Given the description of an element on the screen output the (x, y) to click on. 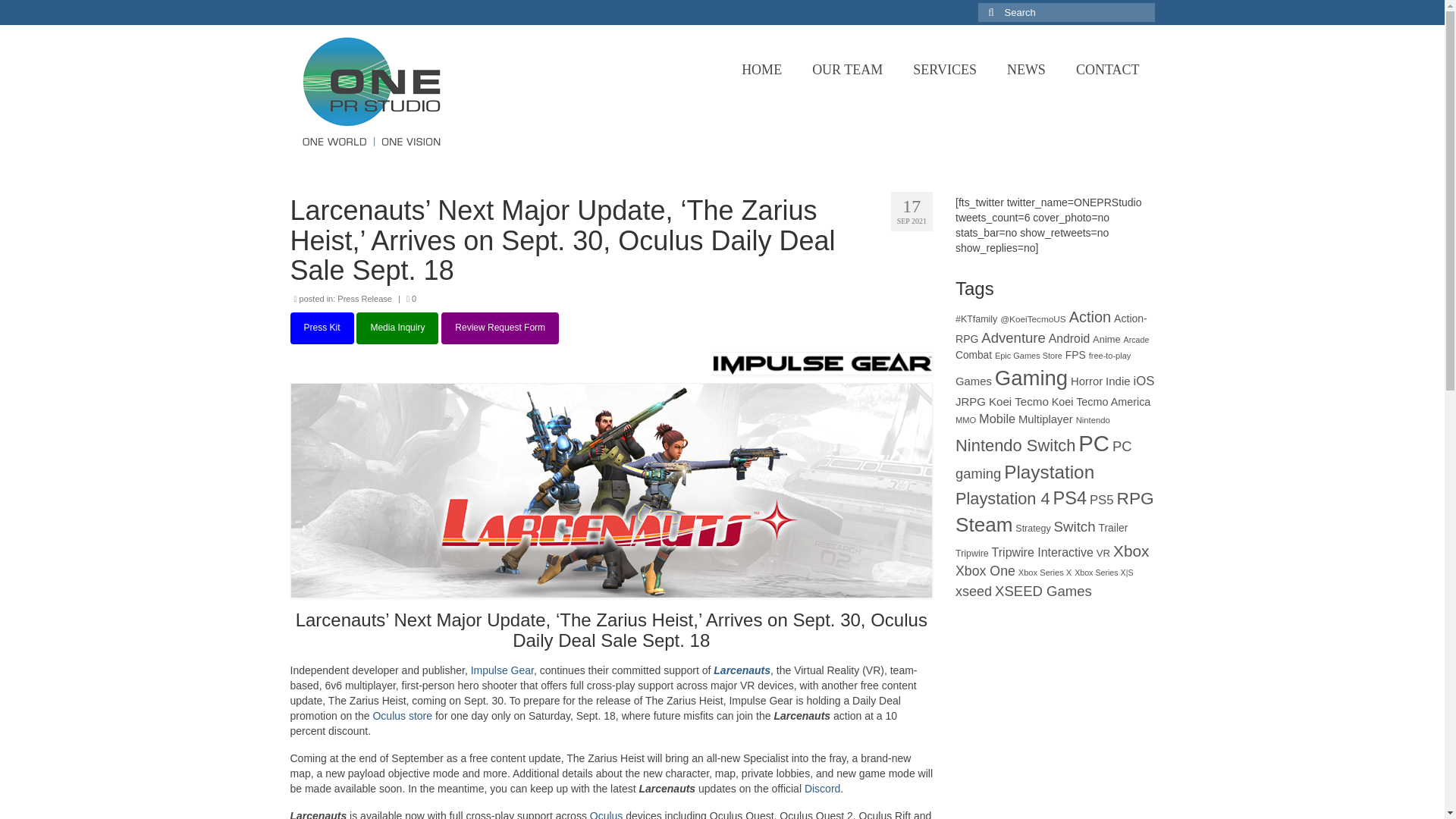
Media Inquiry (397, 327)
Oculus (606, 814)
NEWS (1026, 69)
CONTACT (1107, 69)
Press Release (364, 298)
Oculus store (402, 715)
Larcenauts (741, 670)
OUR TEAM (847, 69)
SERVICES (944, 69)
Discord (822, 788)
HOME (761, 69)
Press Kit (321, 327)
Review Request Form (500, 327)
Impulse Gear (502, 670)
